Given the description of an element on the screen output the (x, y) to click on. 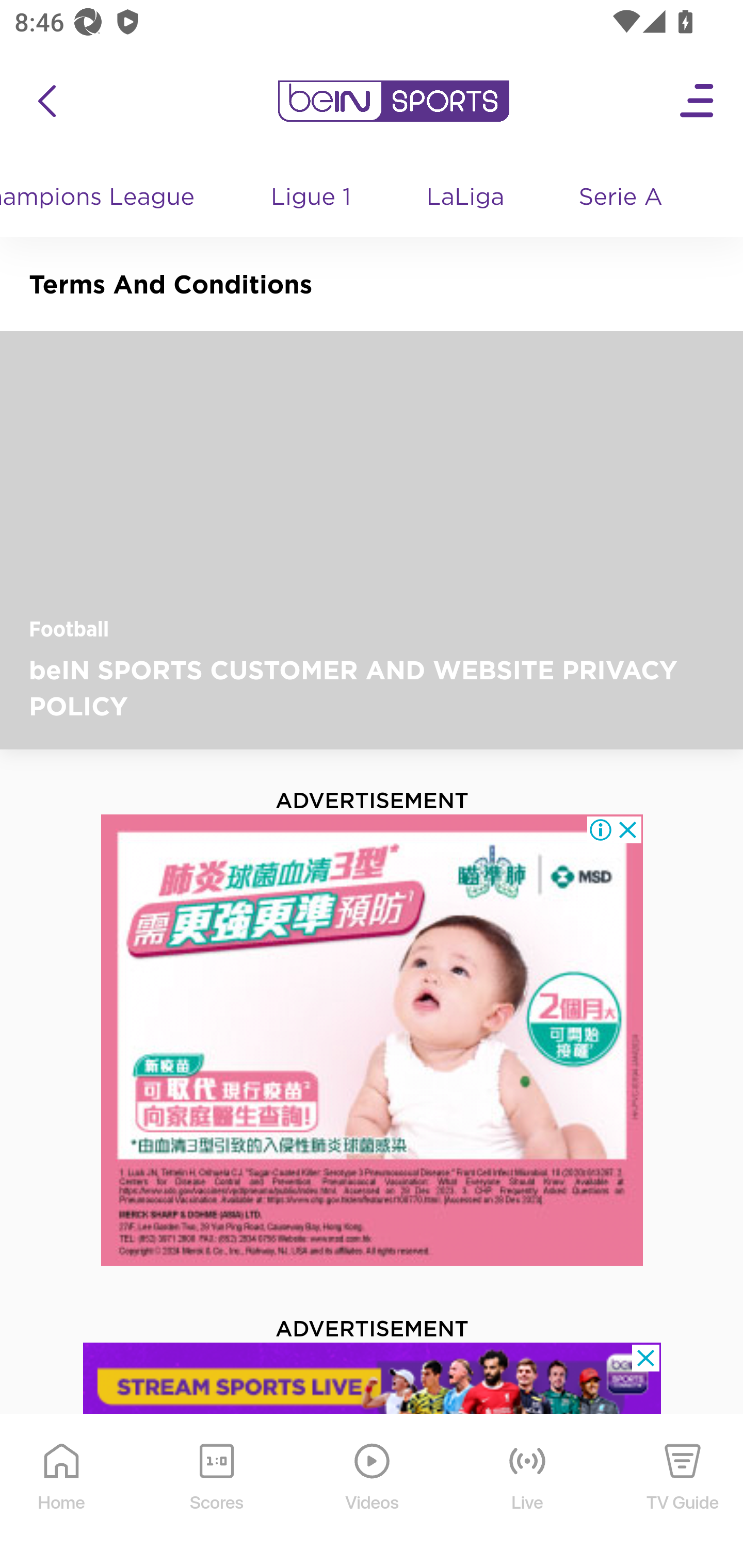
en-my?platform=mobile_android bein logo (392, 101)
icon back (46, 101)
Open Menu Icon (697, 101)
UEFA Champions League (107, 198)
Ligue 1 (312, 198)
LaLiga (466, 198)
Serie A (621, 198)
Advertisement (372, 1039)
l8psv8uu (372, 1387)
Home Home Icon Home (61, 1491)
Scores Scores Icon Scores (216, 1491)
Videos Videos Icon Videos (372, 1491)
TV Guide TV Guide Icon TV Guide (682, 1491)
